Given the description of an element on the screen output the (x, y) to click on. 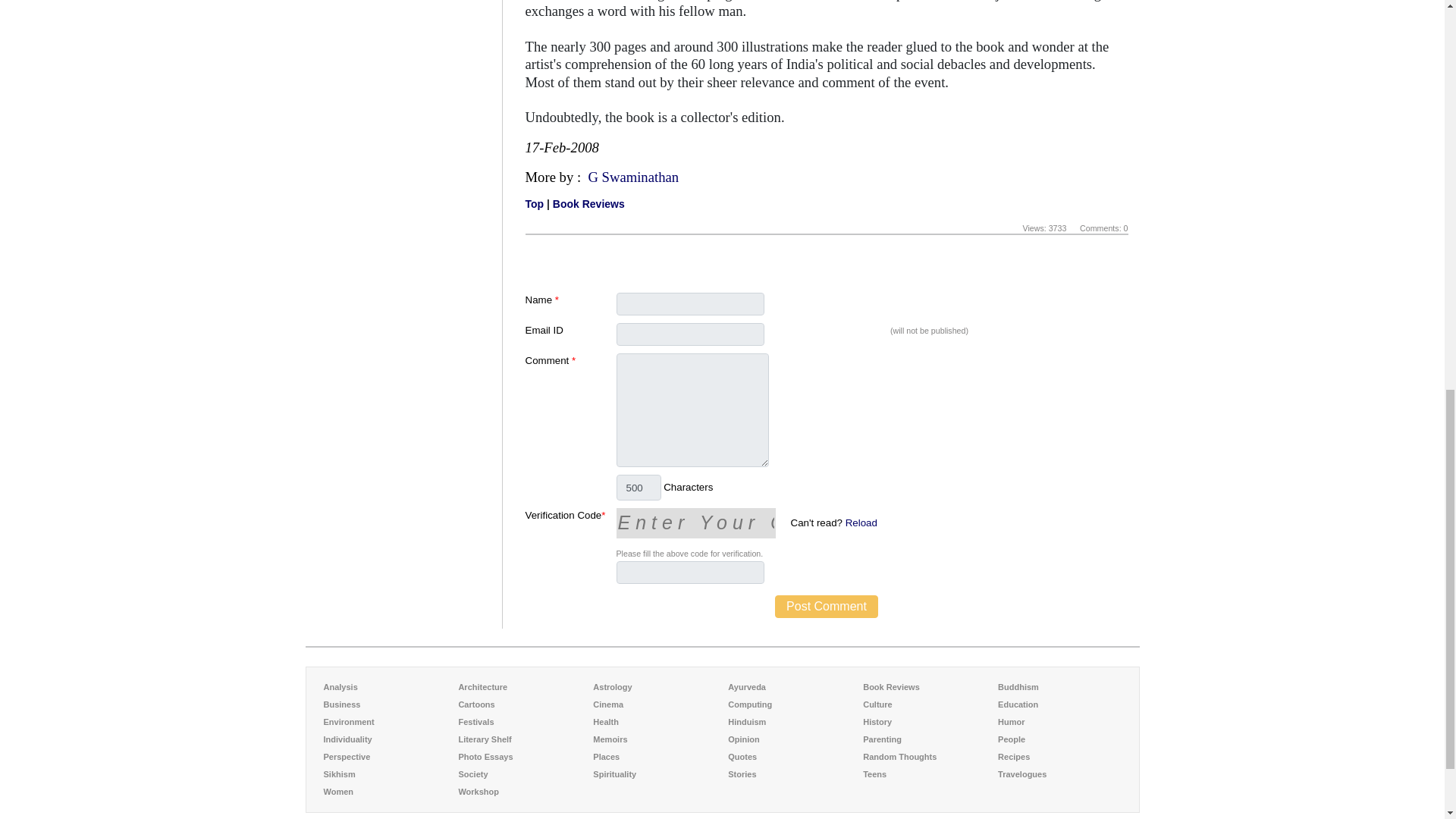
500 (638, 487)
Post Comment (825, 606)
